Given the description of an element on the screen output the (x, y) to click on. 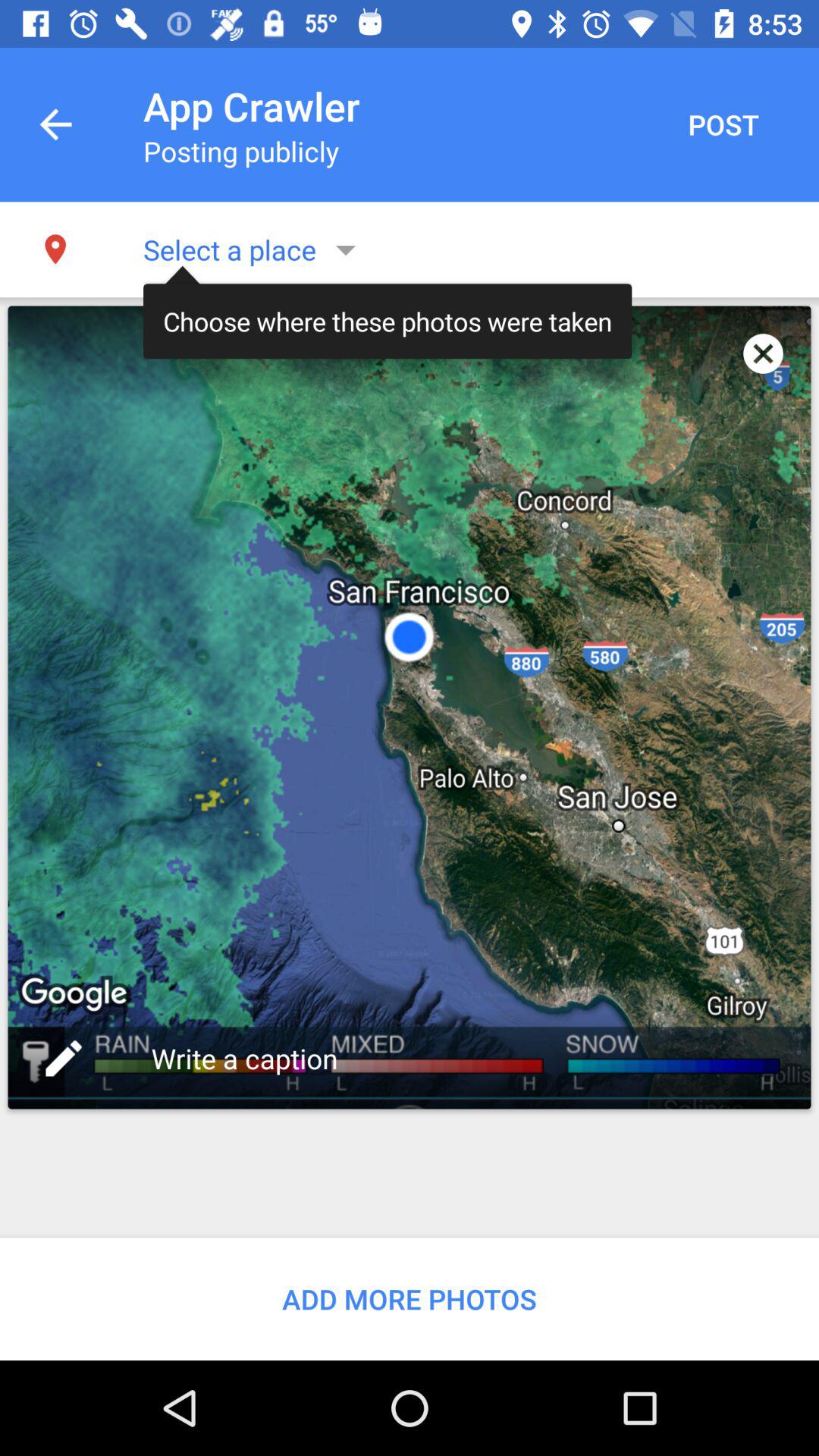
open the item to the left of the app crawler icon (55, 124)
